Given the description of an element on the screen output the (x, y) to click on. 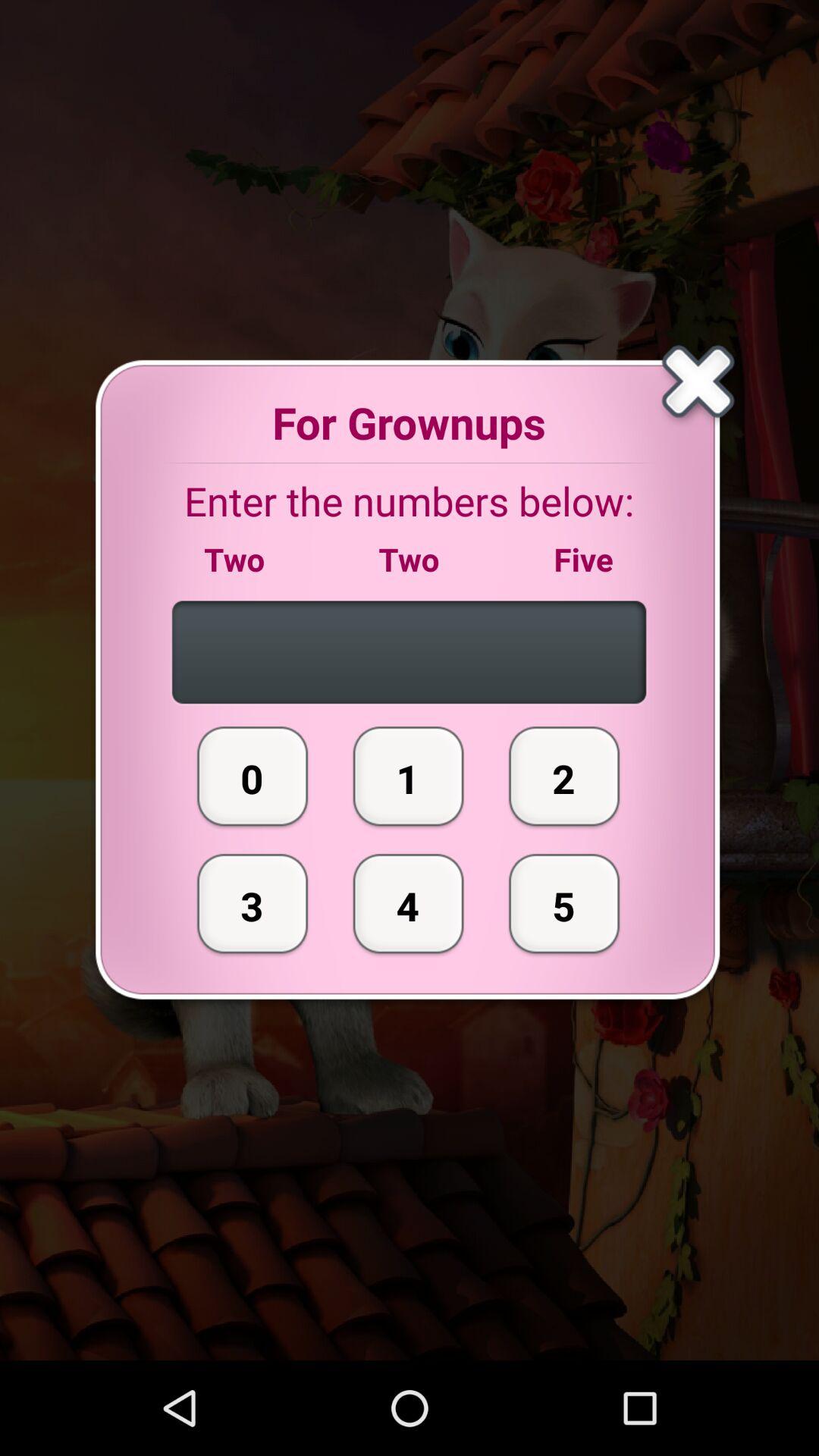
select the icon above 3 icon (252, 776)
